Given the description of an element on the screen output the (x, y) to click on. 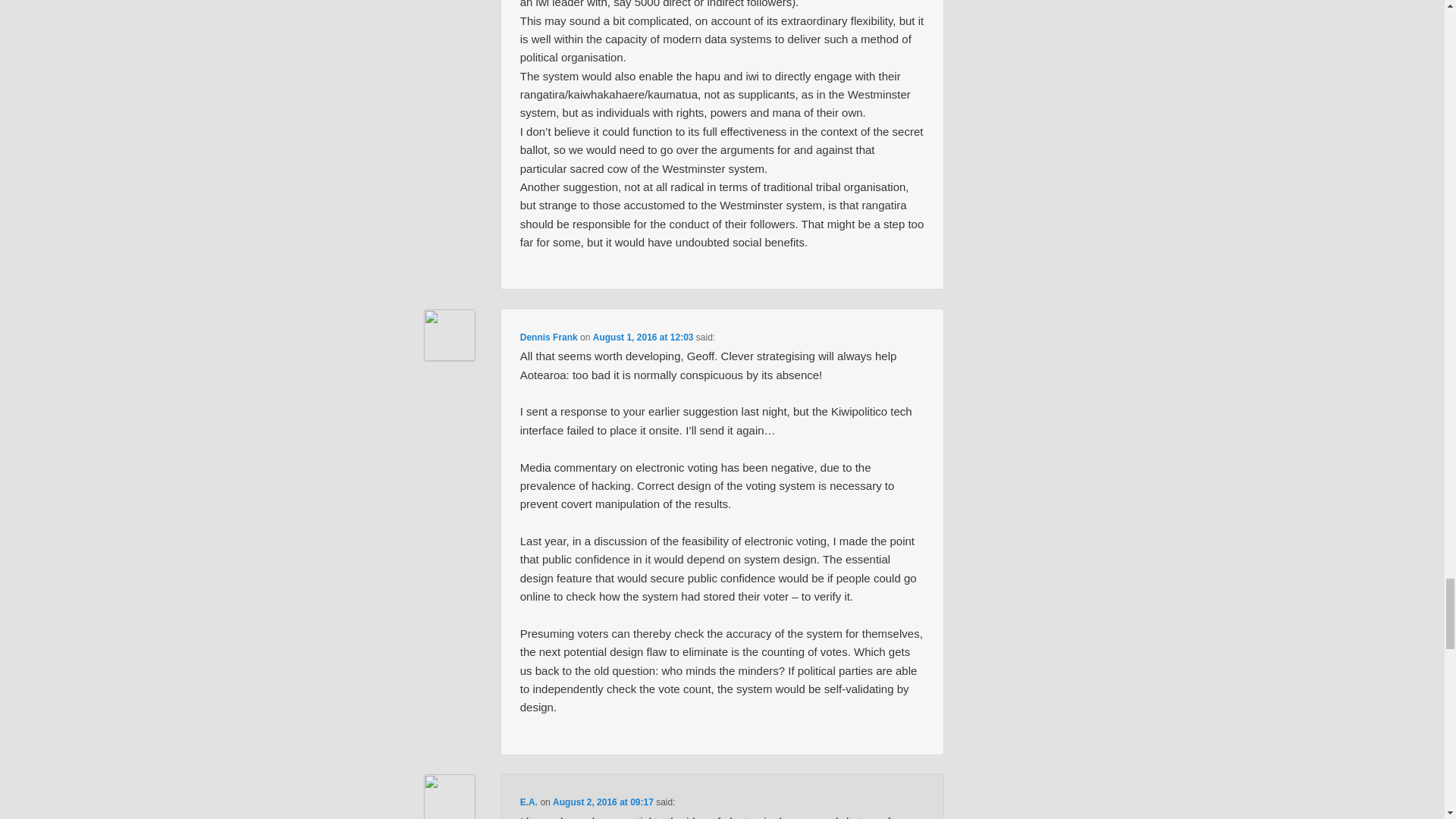
Dennis Frank (548, 337)
August 1, 2016 at 12:03 (643, 337)
E.A. (528, 801)
